Given the description of an element on the screen output the (x, y) to click on. 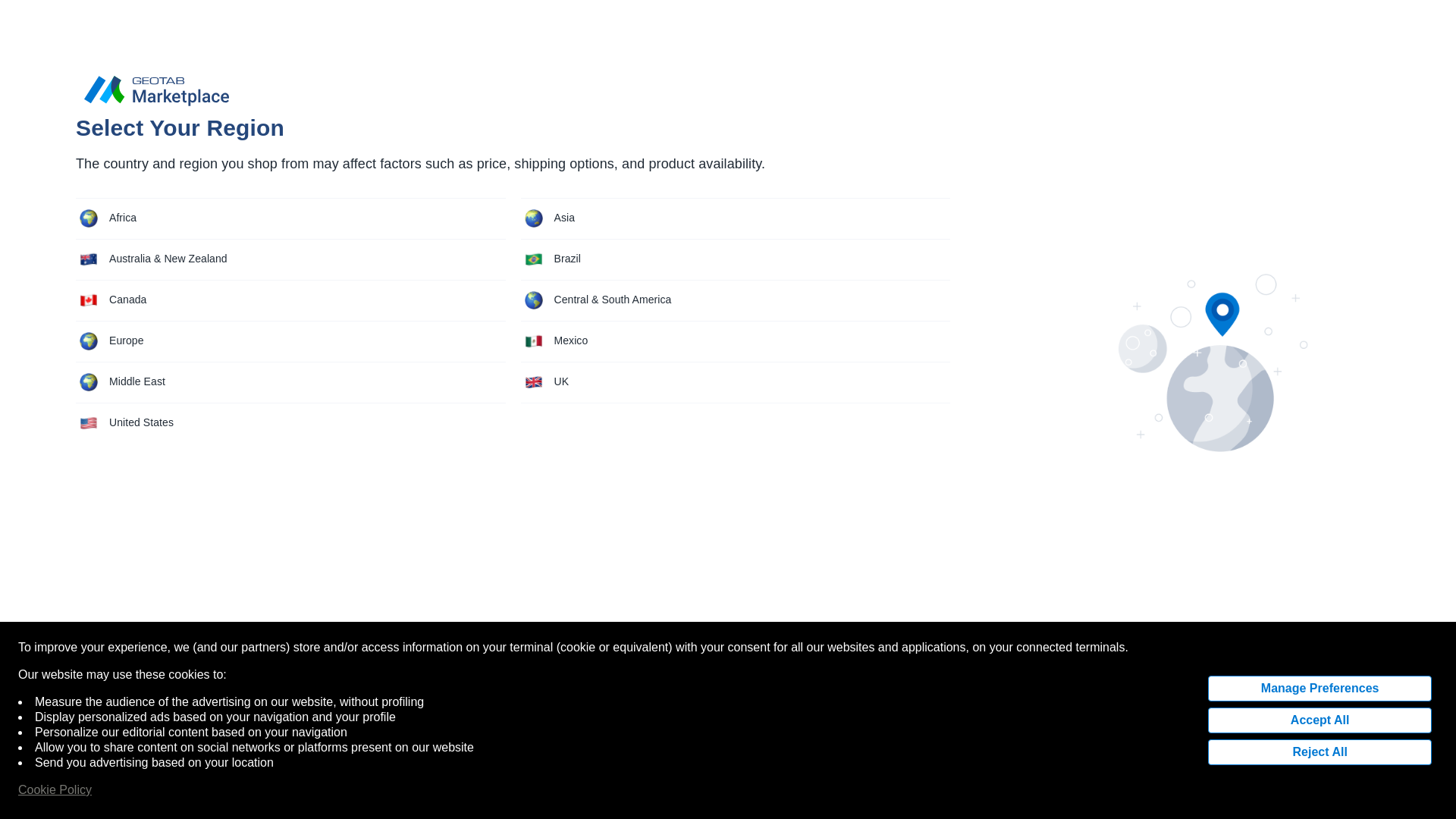
Talk to a Geotab Expert (1341, 796)
Boson TI (259, 131)
Contact Us (1121, 13)
Accept All (1319, 720)
Canada (290, 300)
Integrate (1058, 13)
Manage Preferences (1319, 688)
Europe (290, 341)
Talk to a Geotab Expert (1341, 796)
Mexico (734, 341)
